Given the description of an element on the screen output the (x, y) to click on. 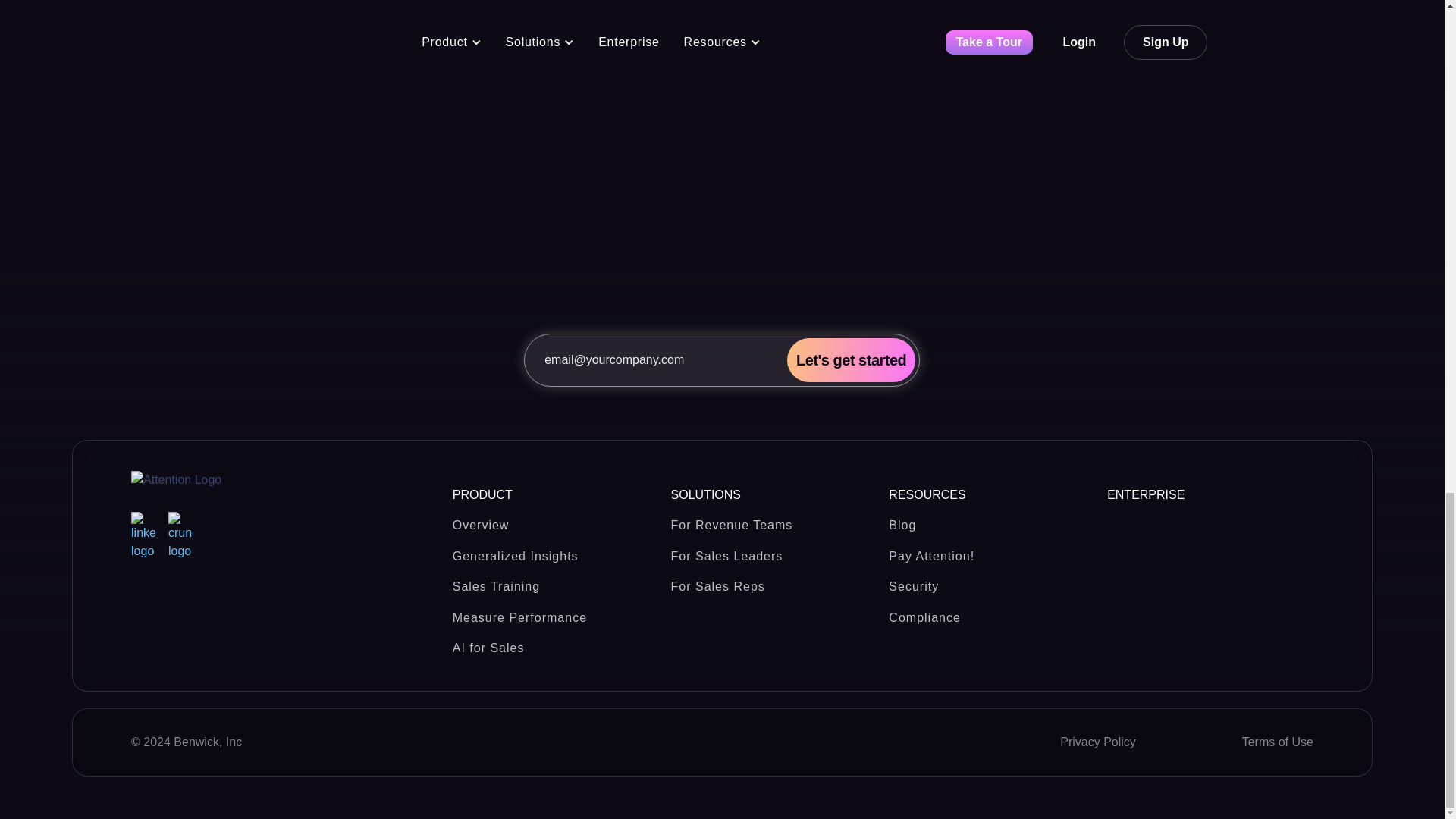
For Revenue Teams (774, 519)
Let's get started (851, 360)
Sales Training (555, 581)
Overview (555, 519)
Measure Performance (555, 612)
AI for Sales (555, 642)
Generalized Insights (555, 550)
Let's get started (851, 360)
For Sales Leaders (774, 550)
